Given the description of an element on the screen output the (x, y) to click on. 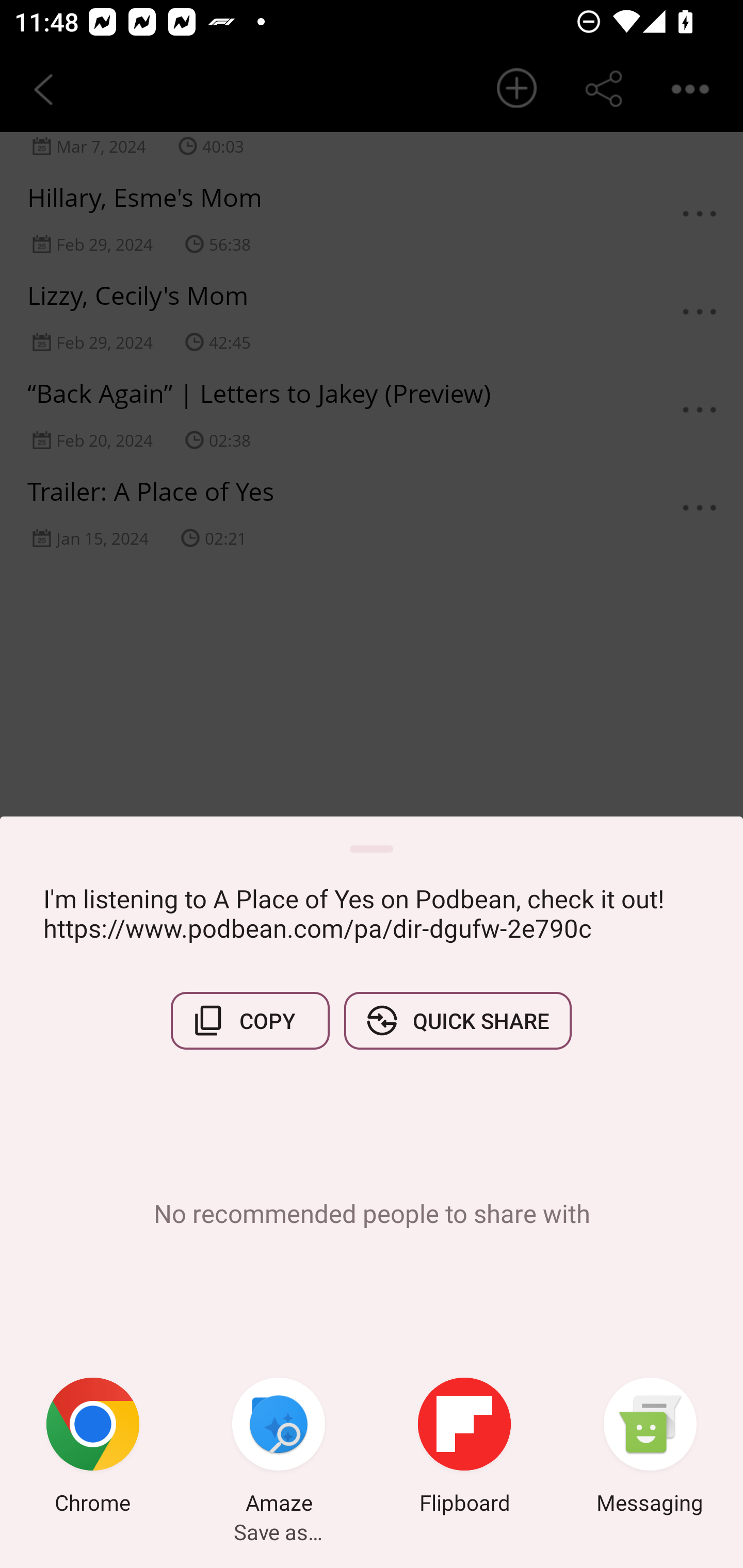
COPY (249, 1020)
QUICK SHARE (457, 1020)
Chrome (92, 1448)
Amaze Save as… (278, 1448)
Flipboard (464, 1448)
Messaging (650, 1448)
